Given the description of an element on the screen output the (x, y) to click on. 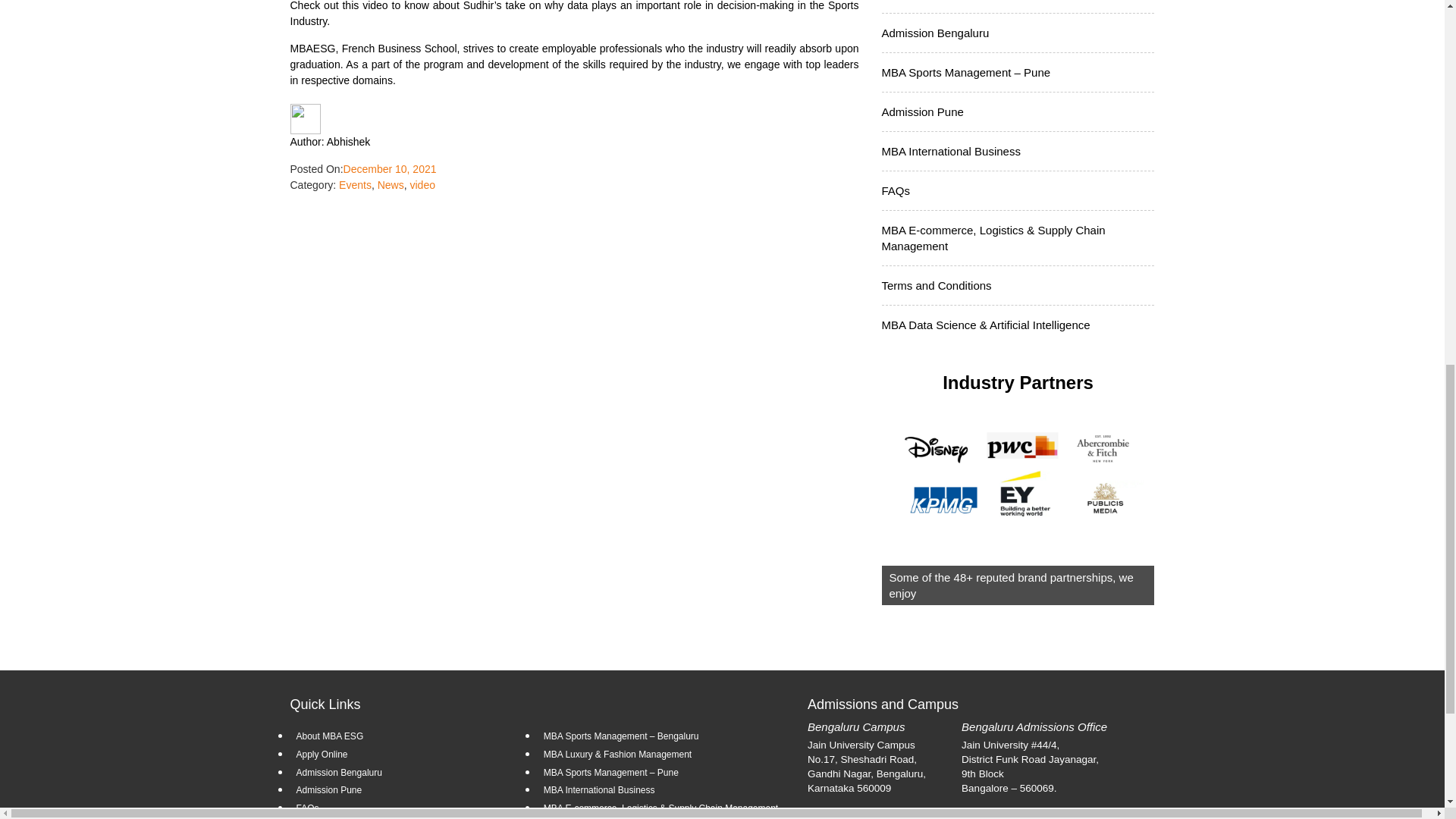
December 10, 2021 (389, 168)
Events (355, 184)
News (390, 184)
video (421, 184)
ABC (1017, 483)
